Given the description of an element on the screen output the (x, y) to click on. 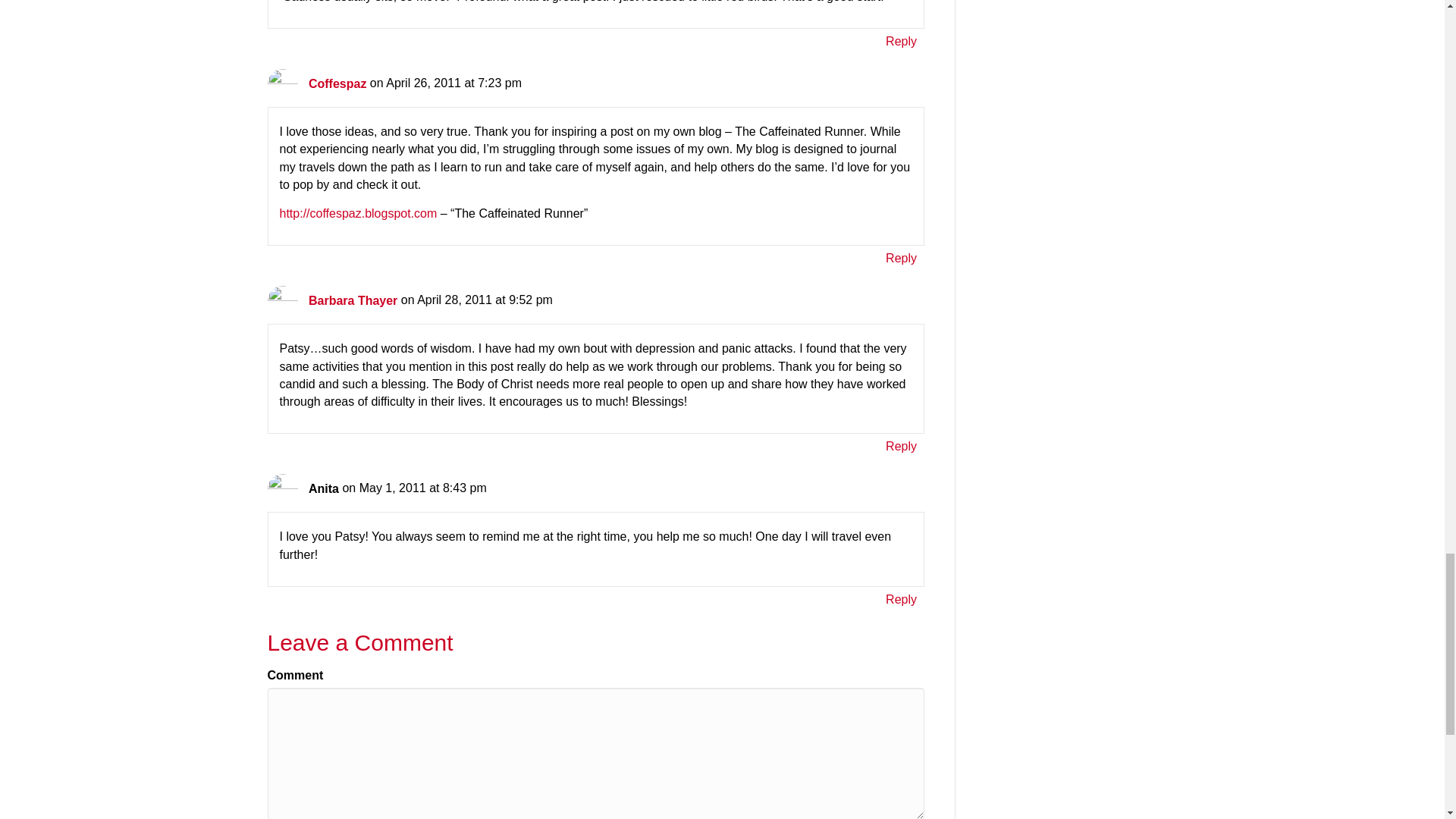
Reply (901, 258)
Reply (901, 598)
Barbara Thayer (352, 300)
Reply (901, 41)
Reply (901, 445)
Coffespaz (337, 83)
